Given the description of an element on the screen output the (x, y) to click on. 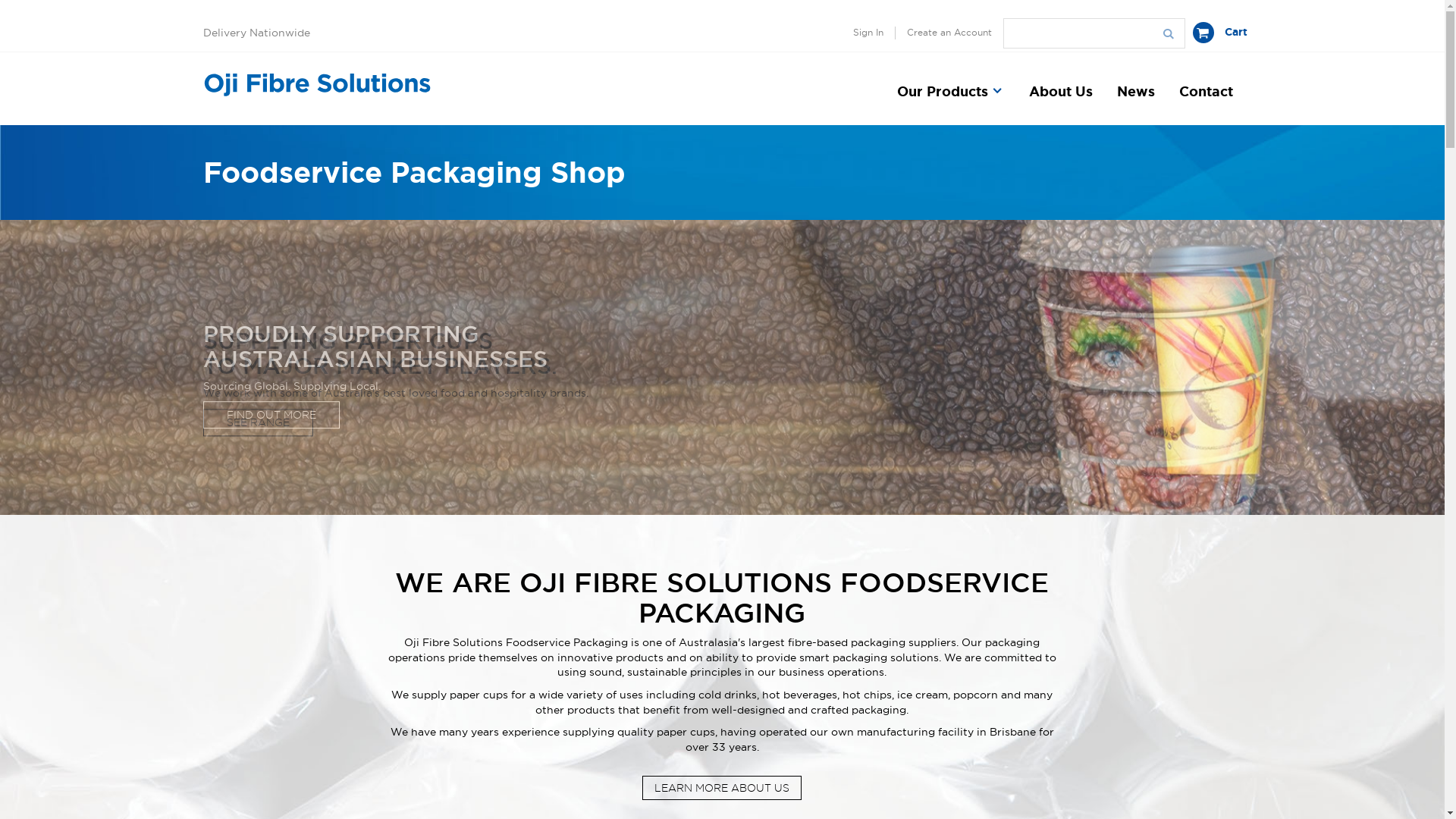
Create an Account Element type: text (942, 32)
Oji Fibre Solutions Element type: hover (316, 83)
Oji Fibre Solutions Element type: hover (316, 83)
SEE OUR RANGE Element type: text (272, 403)
Cart Element type: text (1219, 32)
Contact Element type: text (1205, 102)
News Element type: text (1135, 102)
Search Element type: text (1167, 33)
LEARN MORE ABOUT US Element type: text (721, 787)
Our Products Element type: text (951, 102)
Sign In Element type: text (868, 32)
SEE RANGE Element type: text (258, 422)
About Us Element type: text (1060, 102)
